Given the description of an element on the screen output the (x, y) to click on. 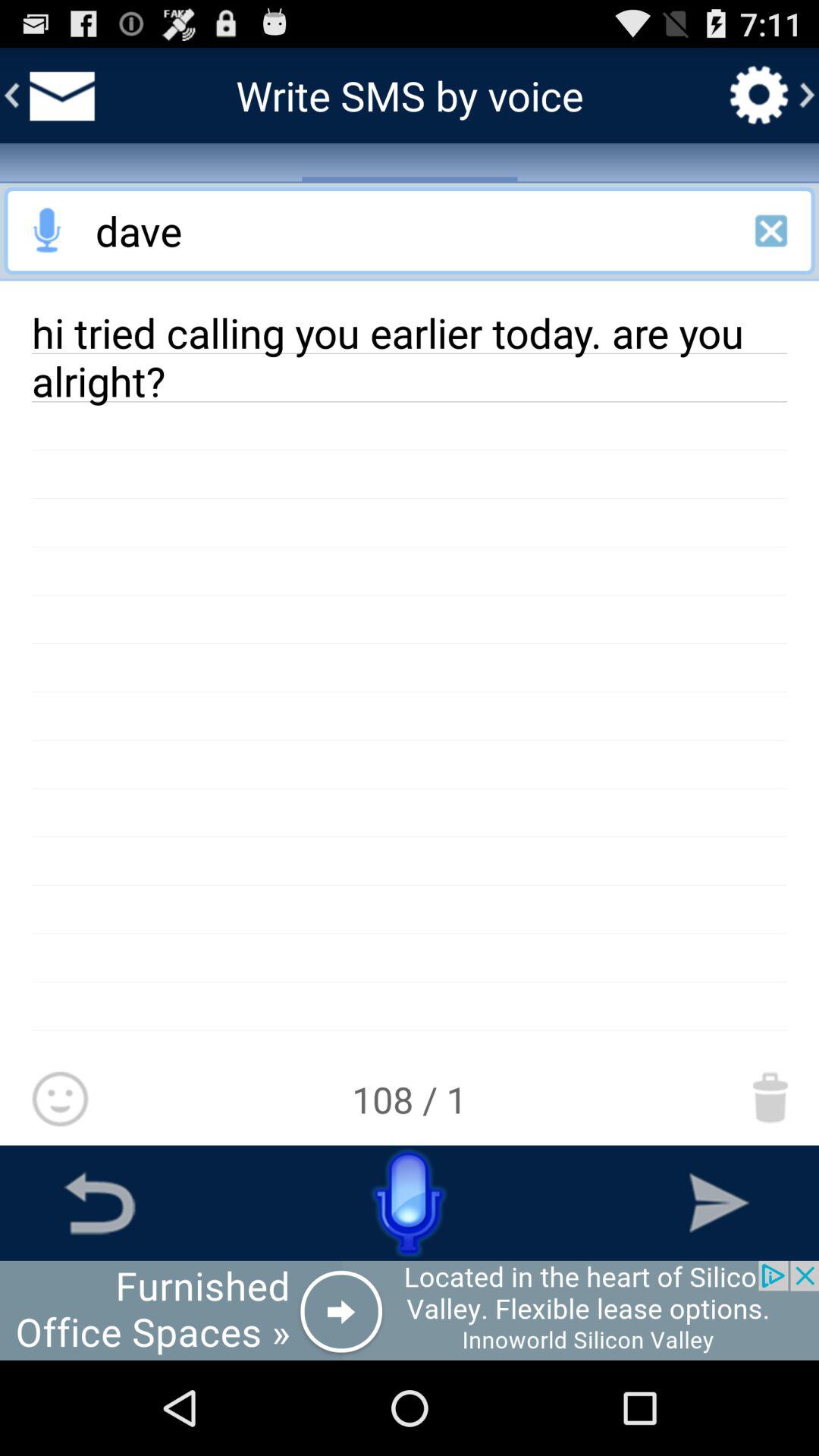
go back (99, 1202)
